Given the description of an element on the screen output the (x, y) to click on. 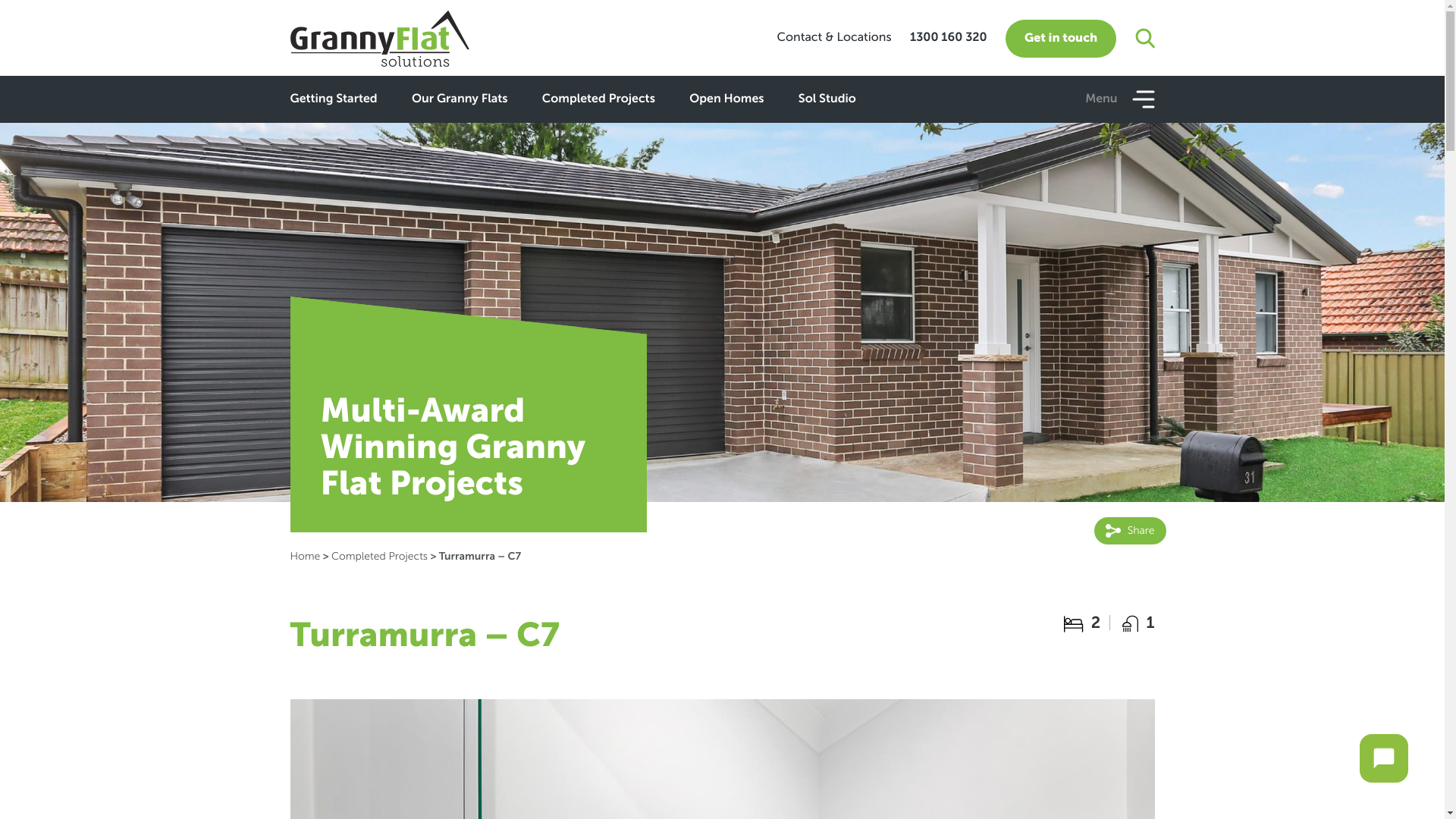
Completed Projects Element type: text (598, 99)
Home Element type: text (304, 556)
Chatbot Element type: hover (1383, 757)
Getting Started Element type: text (332, 99)
Share Element type: text (1130, 530)
Get in touch Element type: text (1060, 38)
Completed Projects Element type: text (379, 556)
Contact & Locations Element type: text (833, 37)
Our Granny Flats Element type: text (459, 99)
Sol Studio Element type: text (827, 99)
Menu Element type: text (1119, 99)
1300 160 320 Element type: text (948, 37)
Open Homes Element type: text (726, 99)
